Given the description of an element on the screen output the (x, y) to click on. 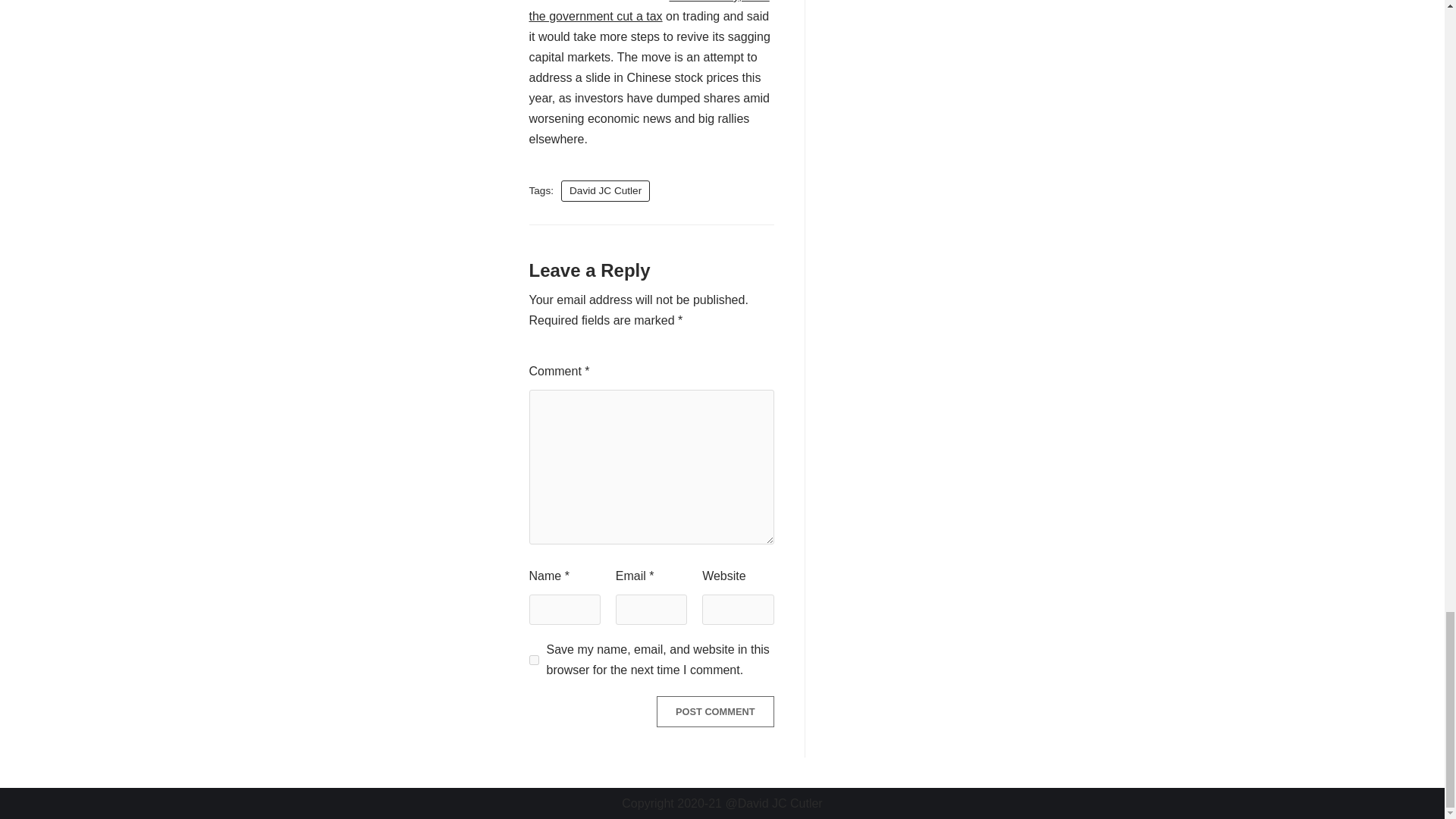
Post Comment (715, 711)
yes (533, 660)
David JC Cutler (604, 191)
rose Monday, after the government cut a tax (649, 11)
David JC Cutler (604, 191)
Post Comment (715, 711)
